Given the description of an element on the screen output the (x, y) to click on. 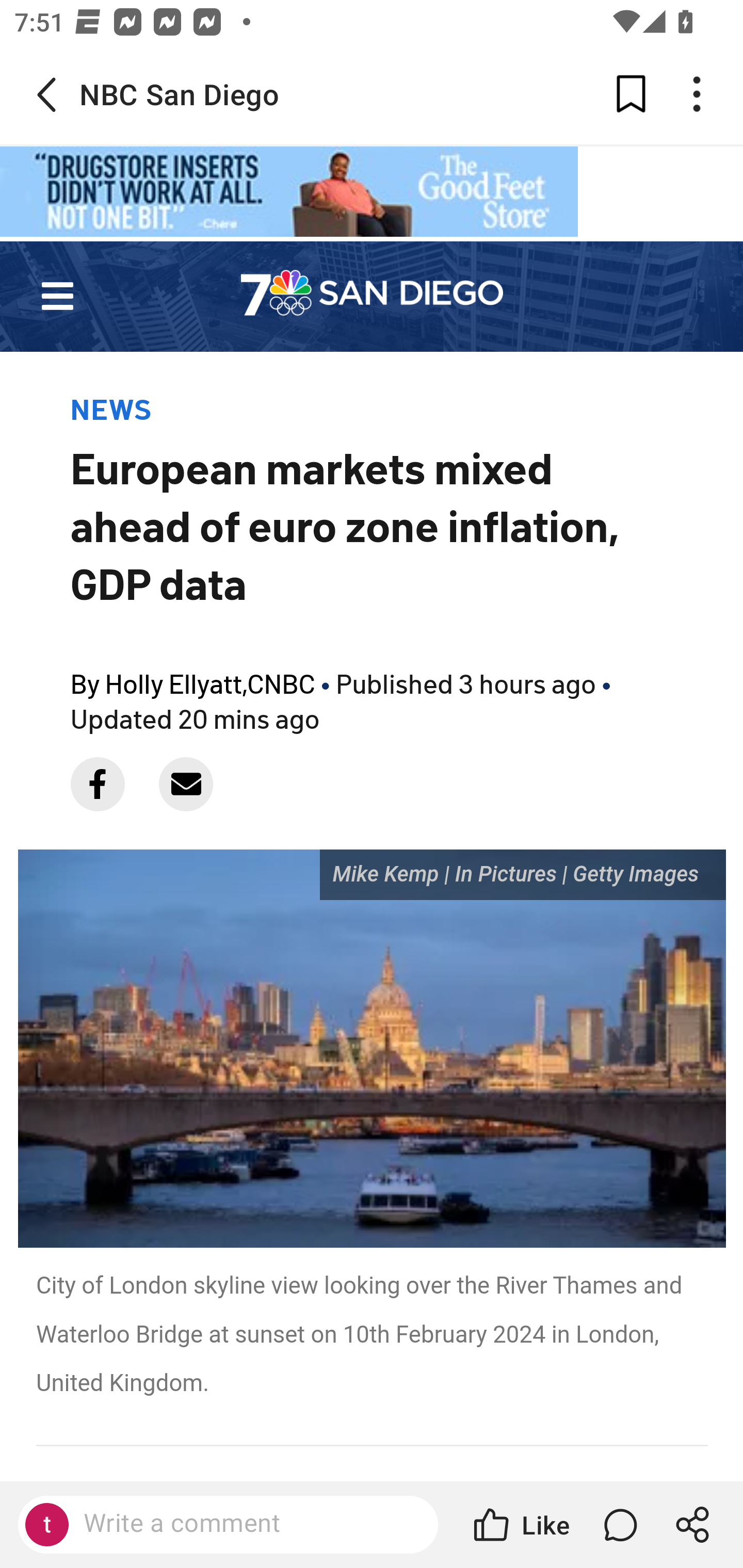
Like (519, 1524)
Write a comment (245, 1523)
